Given the description of an element on the screen output the (x, y) to click on. 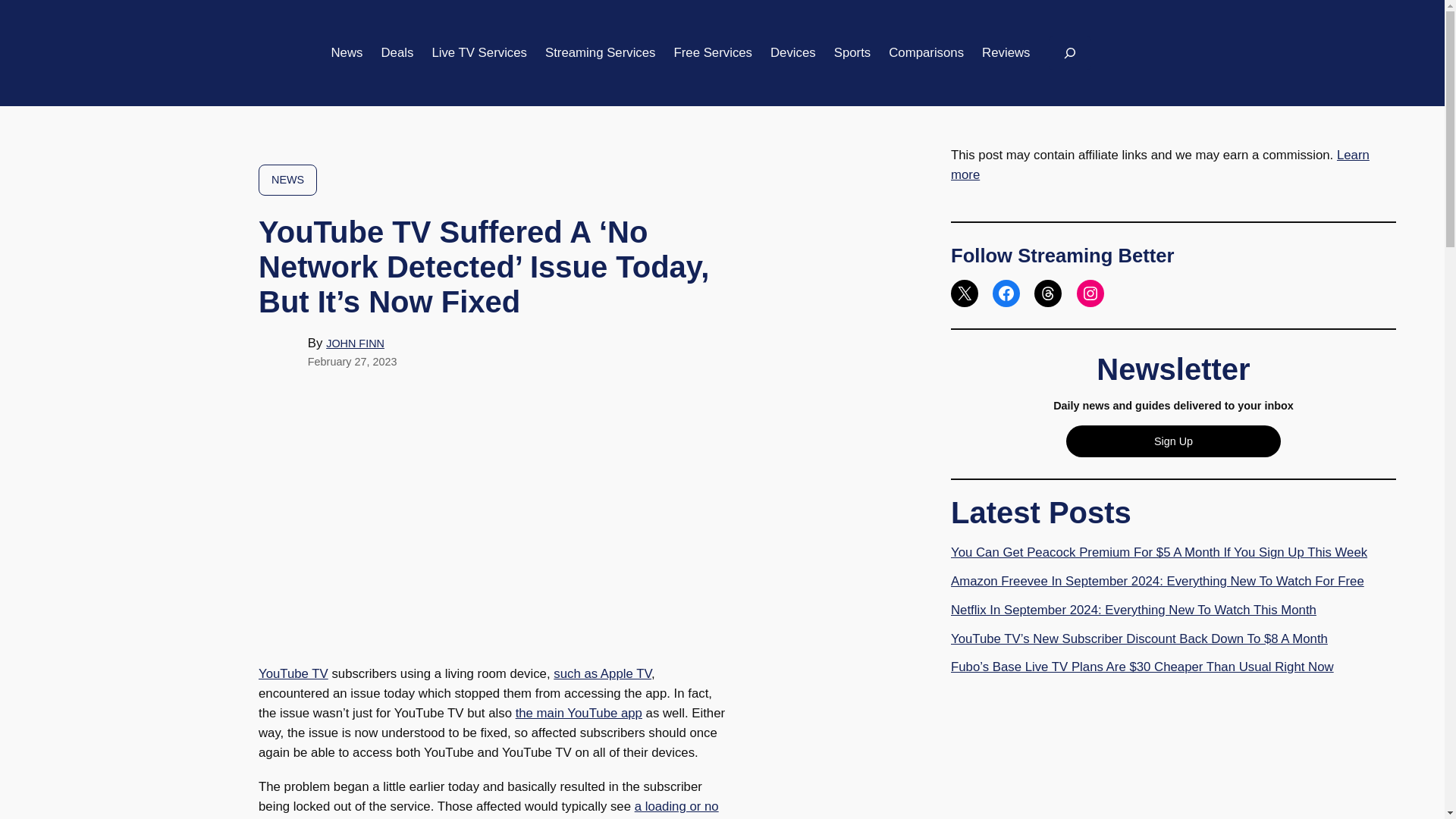
Live TV Services (478, 53)
a loading or no connection (489, 809)
YouTube TV (294, 673)
such as Apple TV (601, 673)
JOHN FINN (355, 343)
Free Services (712, 53)
Reviews (1005, 53)
Sports (852, 53)
Devices (792, 53)
News (346, 53)
